Given the description of an element on the screen output the (x, y) to click on. 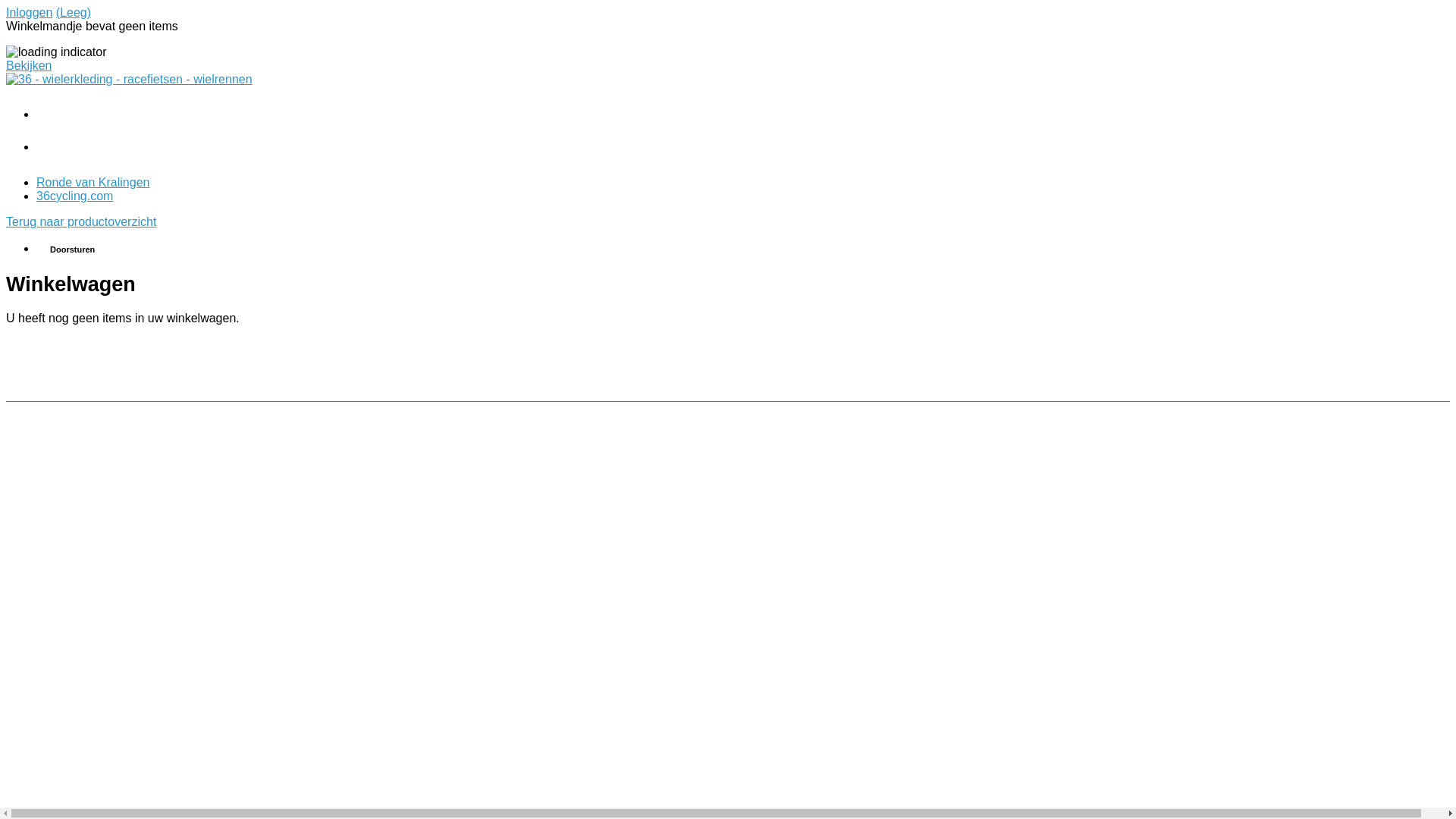
(Leeg) Element type: text (73, 12)
Terug naar productoverzicht Element type: text (81, 221)
Doorsturen Element type: text (742, 248)
Bekijken Element type: text (28, 65)
36cycling.com Element type: text (74, 195)
Inloggen Element type: text (29, 12)
Ronde van Kralingen Element type: text (92, 181)
